Given the description of an element on the screen output the (x, y) to click on. 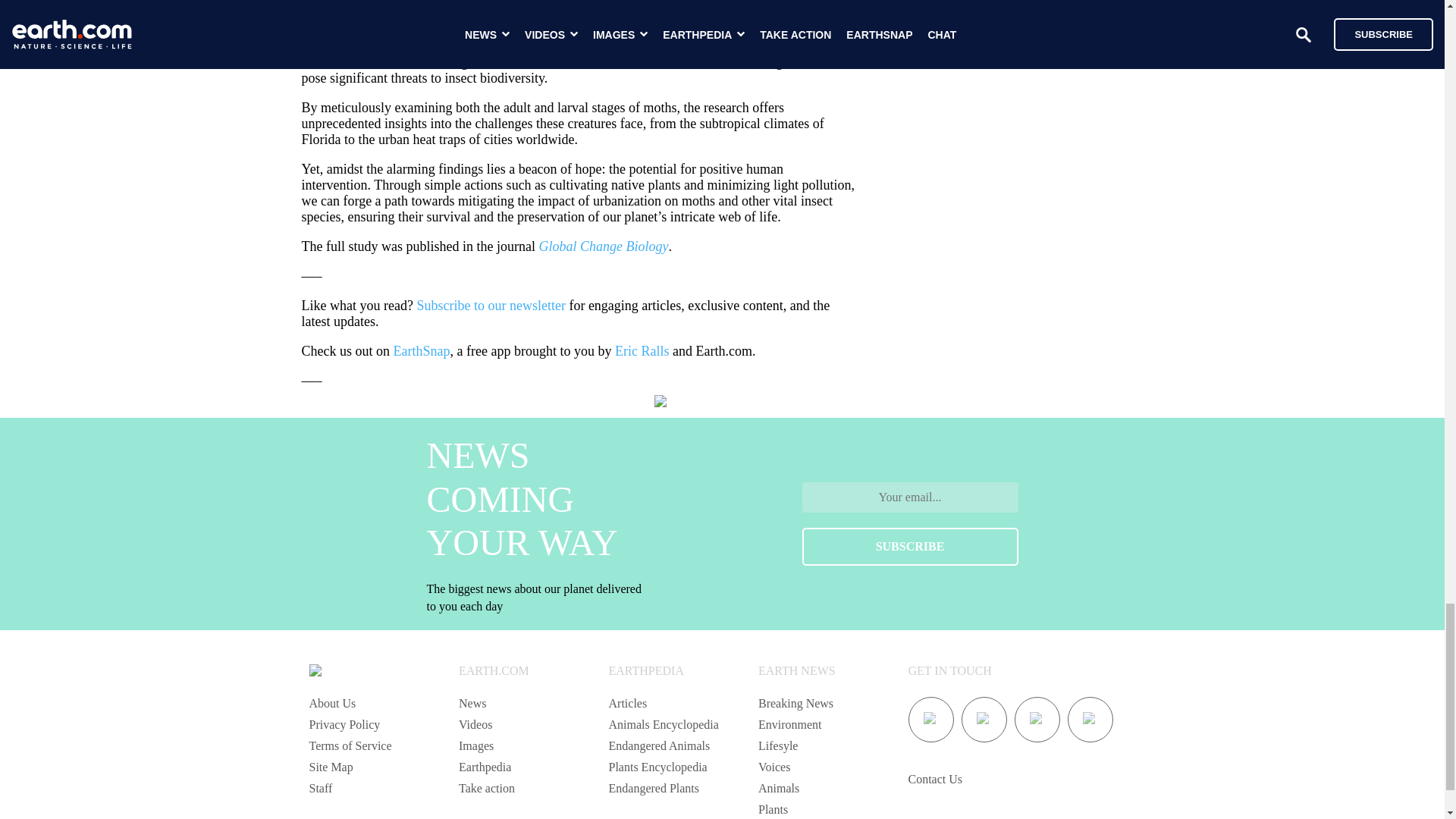
EarthSnap (421, 350)
Global Change Biology (603, 246)
Eric Ralls (641, 350)
Subscribe to our newsletter (490, 305)
